Given the description of an element on the screen output the (x, y) to click on. 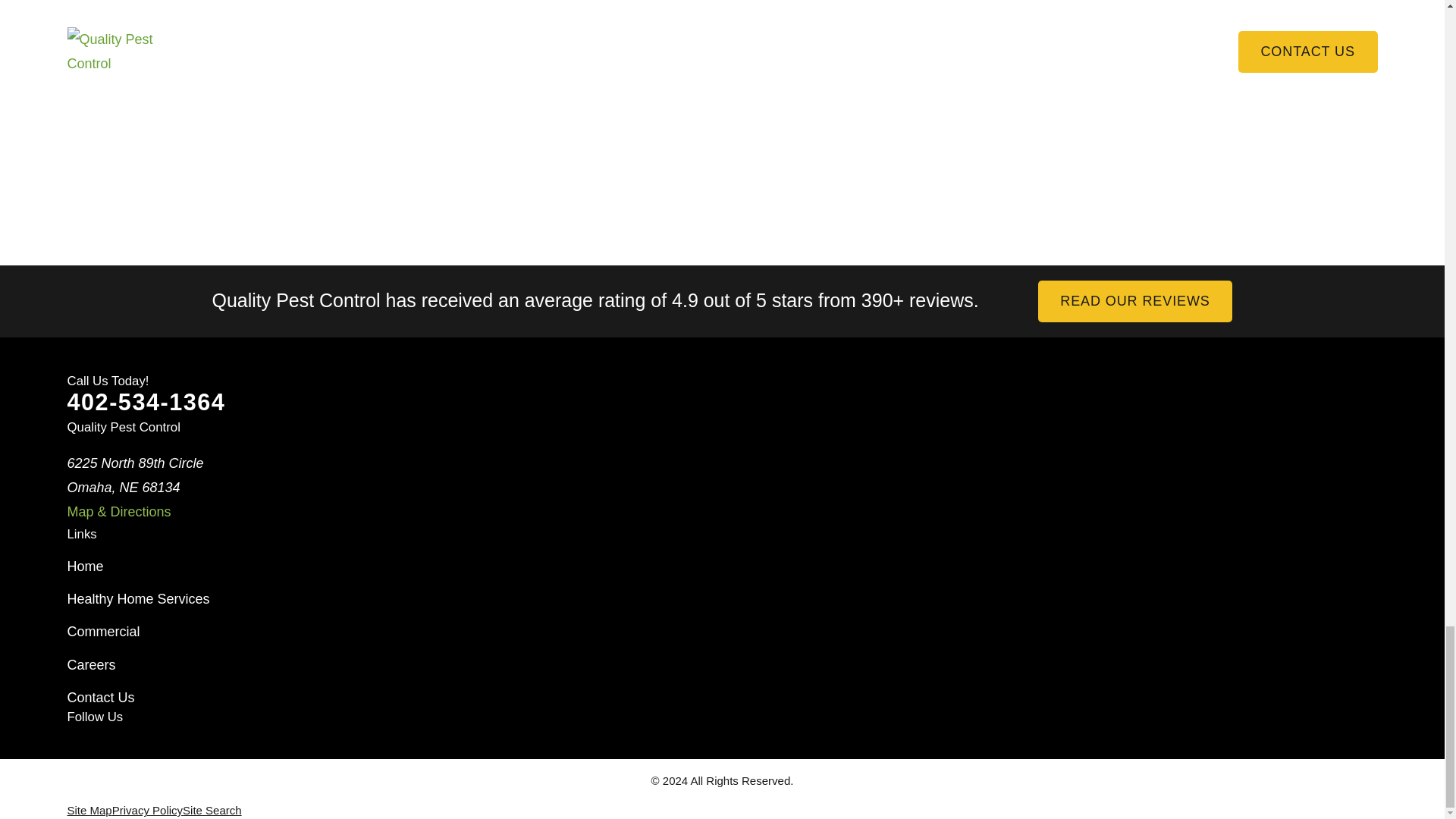
LinkedIn (173, 749)
Google Business Profile (125, 749)
0 Star Rating (595, 318)
Facebook (75, 749)
